Given the description of an element on the screen output the (x, y) to click on. 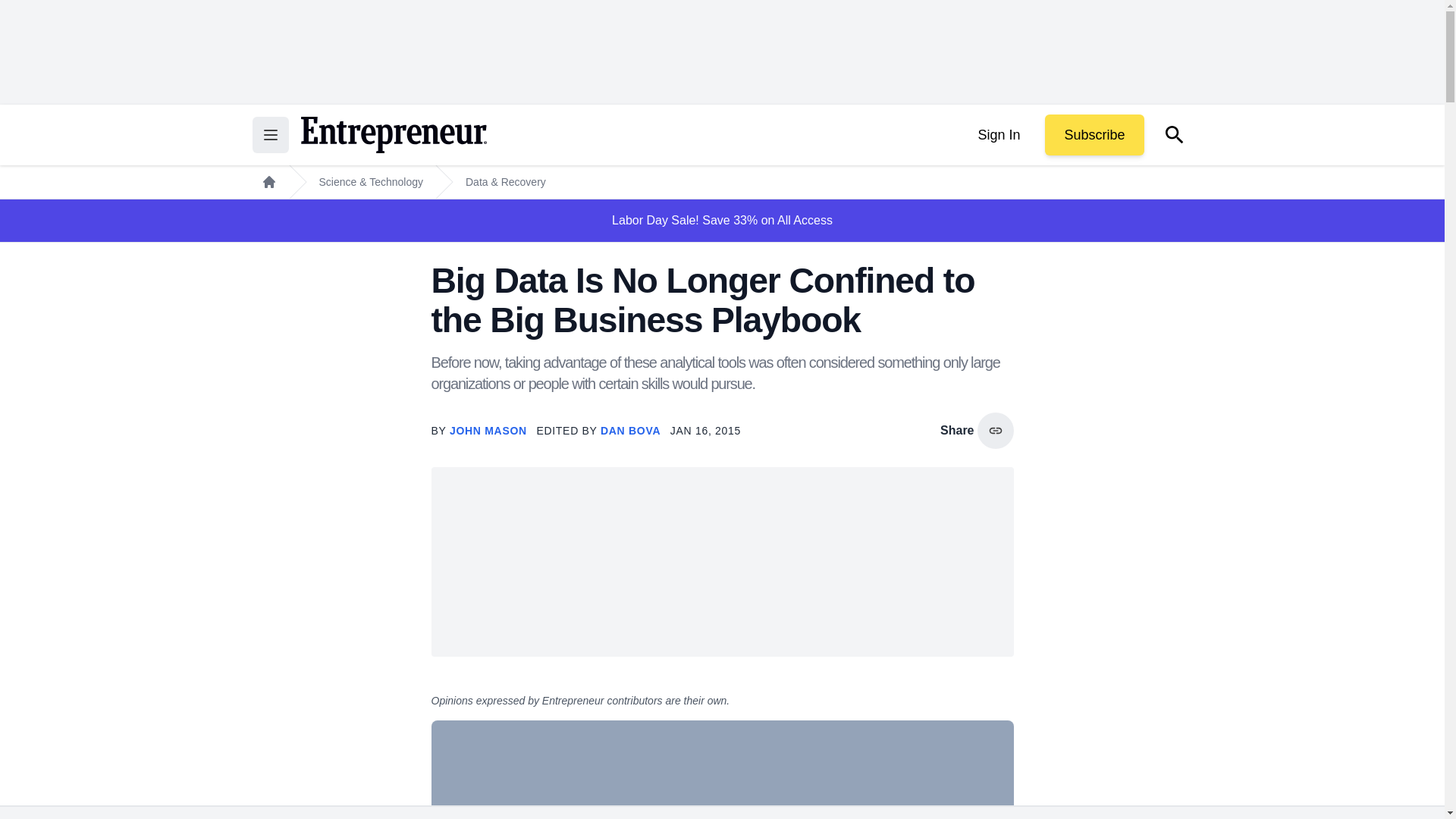
Sign In (998, 134)
copy (994, 430)
Subscribe (1093, 134)
Return to the home page (392, 135)
